Given the description of an element on the screen output the (x, y) to click on. 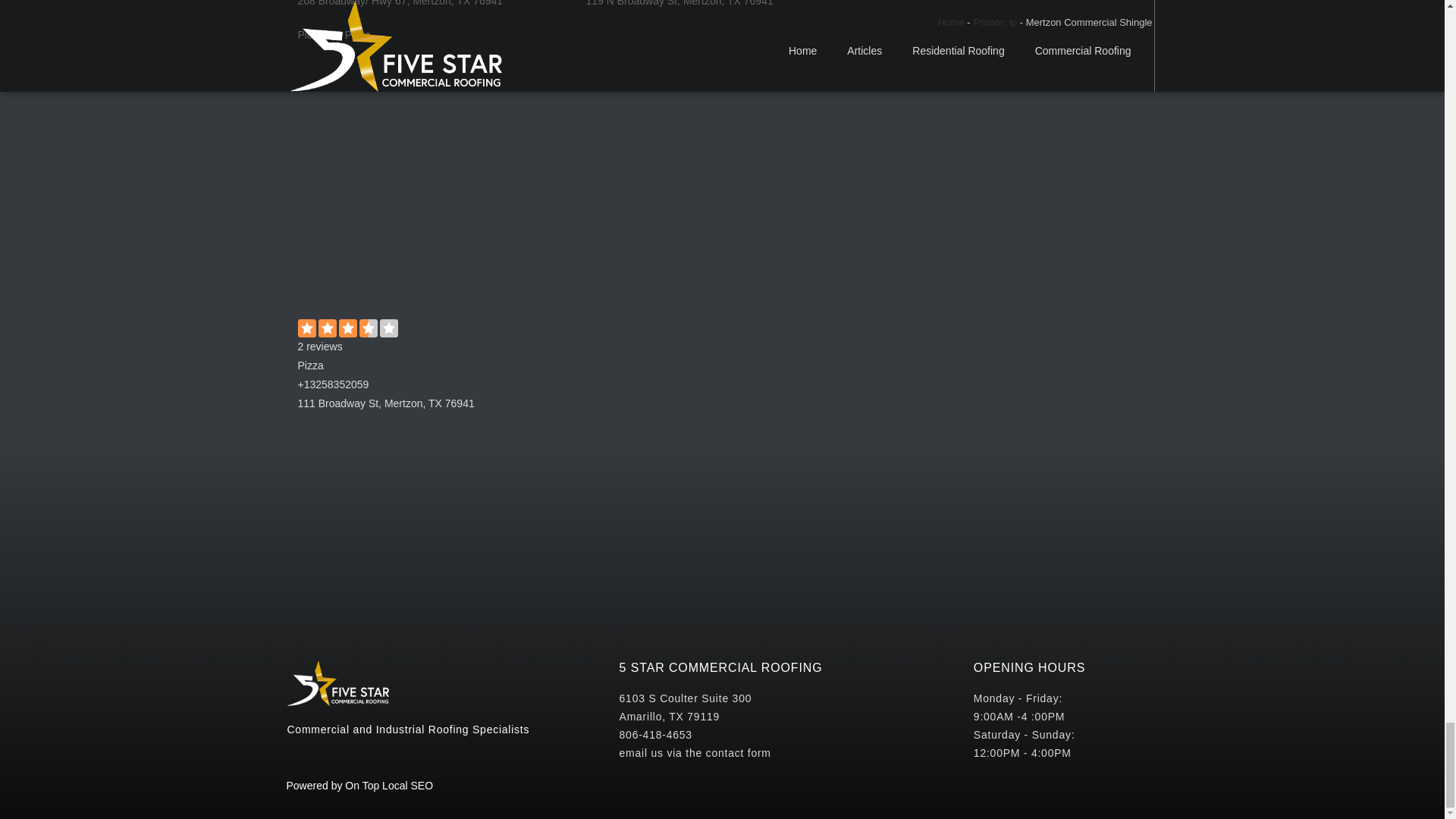
Mertzon Commercial Shingle Roofs 15 (433, 181)
